Given the description of an element on the screen output the (x, y) to click on. 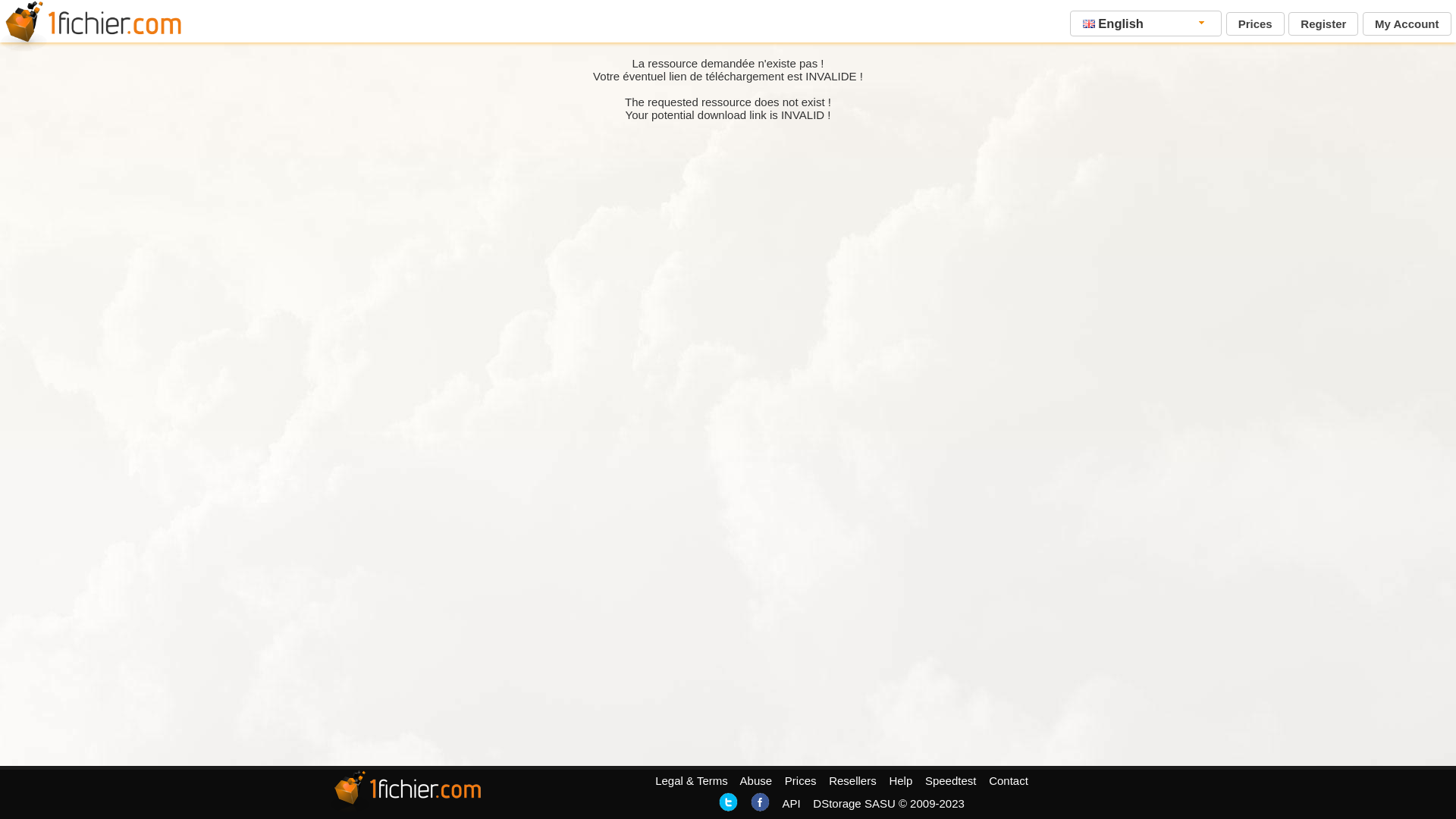
Resellers Element type: text (852, 780)
API Element type: text (790, 803)
Help Element type: text (900, 780)
Abuse Element type: text (756, 780)
Prices Element type: text (1255, 23)
Speedtest Element type: text (950, 780)
Legal & Terms Element type: text (691, 780)
Prices Element type: text (800, 780)
Register Element type: text (1323, 23)
My Account Element type: text (1406, 23)
Contact Element type: text (1008, 780)
